Given the description of an element on the screen output the (x, y) to click on. 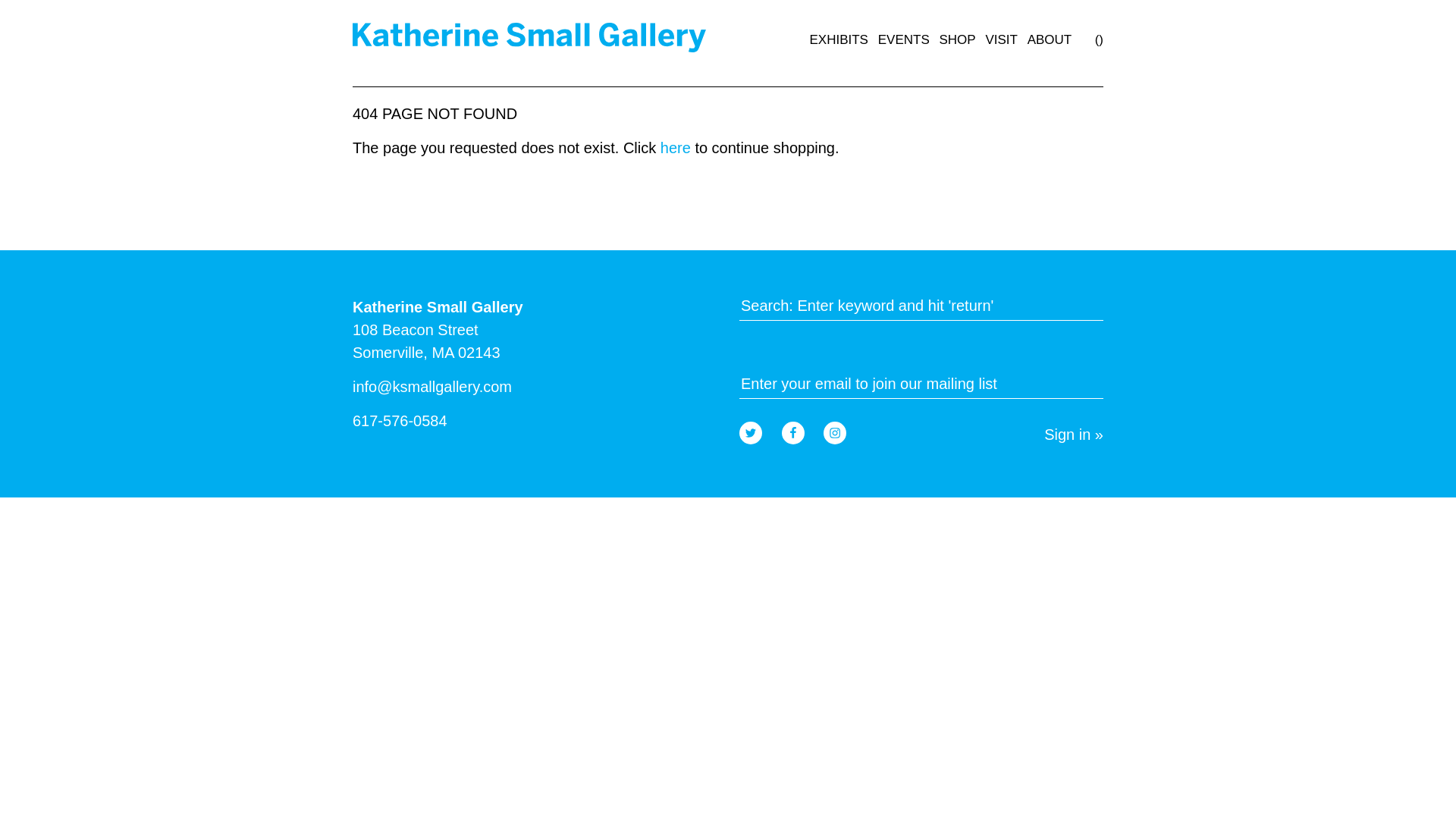
Instagram (834, 432)
EXHIBITS (838, 39)
Katherine Small Gallery on Instagram (834, 432)
Twitter (750, 432)
Facebook (793, 432)
SHOP (957, 39)
ABOUT (1049, 39)
Katherine Small Gallery on Twitter (750, 432)
EVENTS (903, 39)
here (675, 147)
Katherine Small Gallery on Facebook (793, 432)
VISIT (1001, 39)
